Given the description of an element on the screen output the (x, y) to click on. 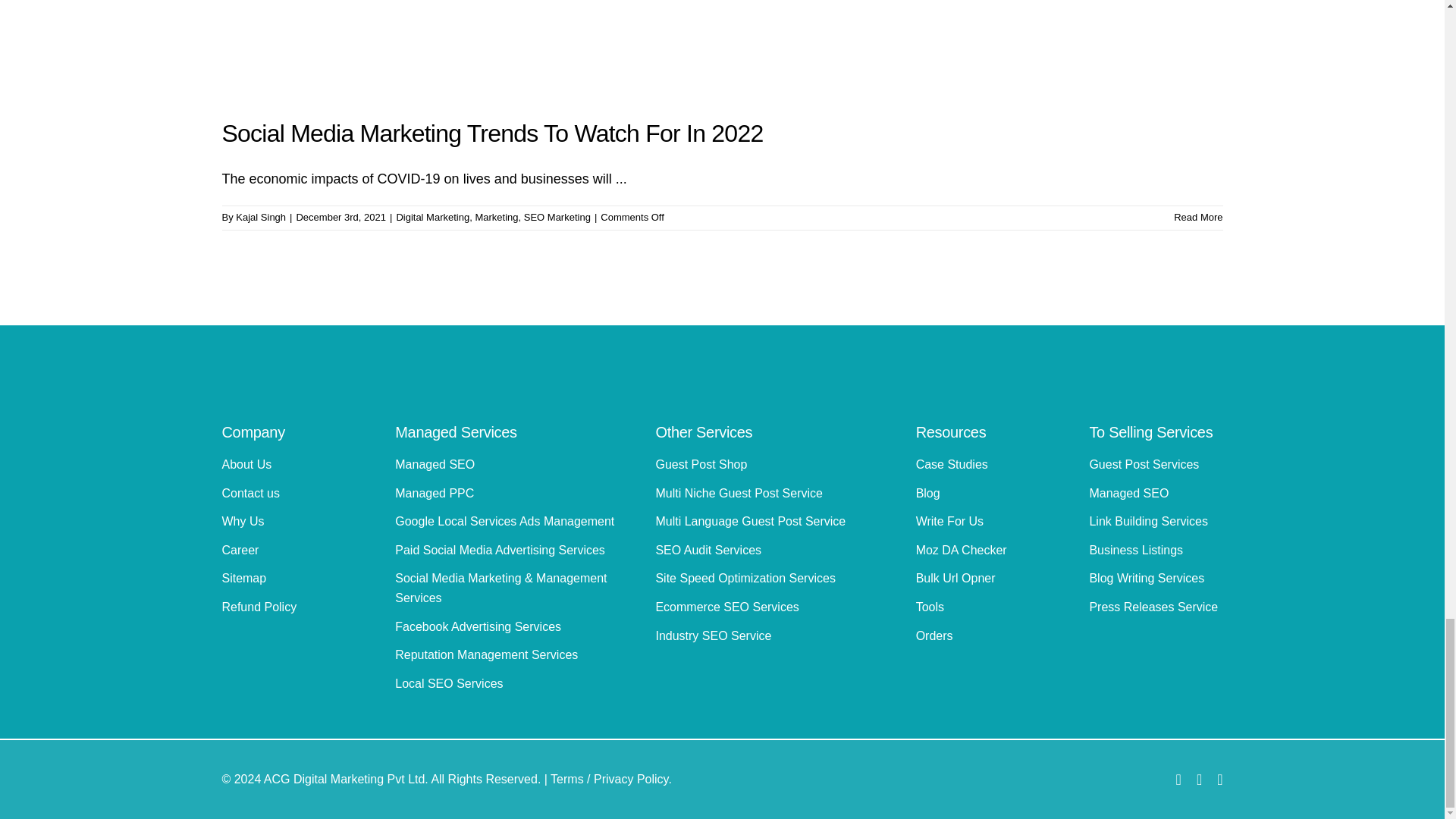
Posts by Kajal Singh (260, 216)
